Given the description of an element on the screen output the (x, y) to click on. 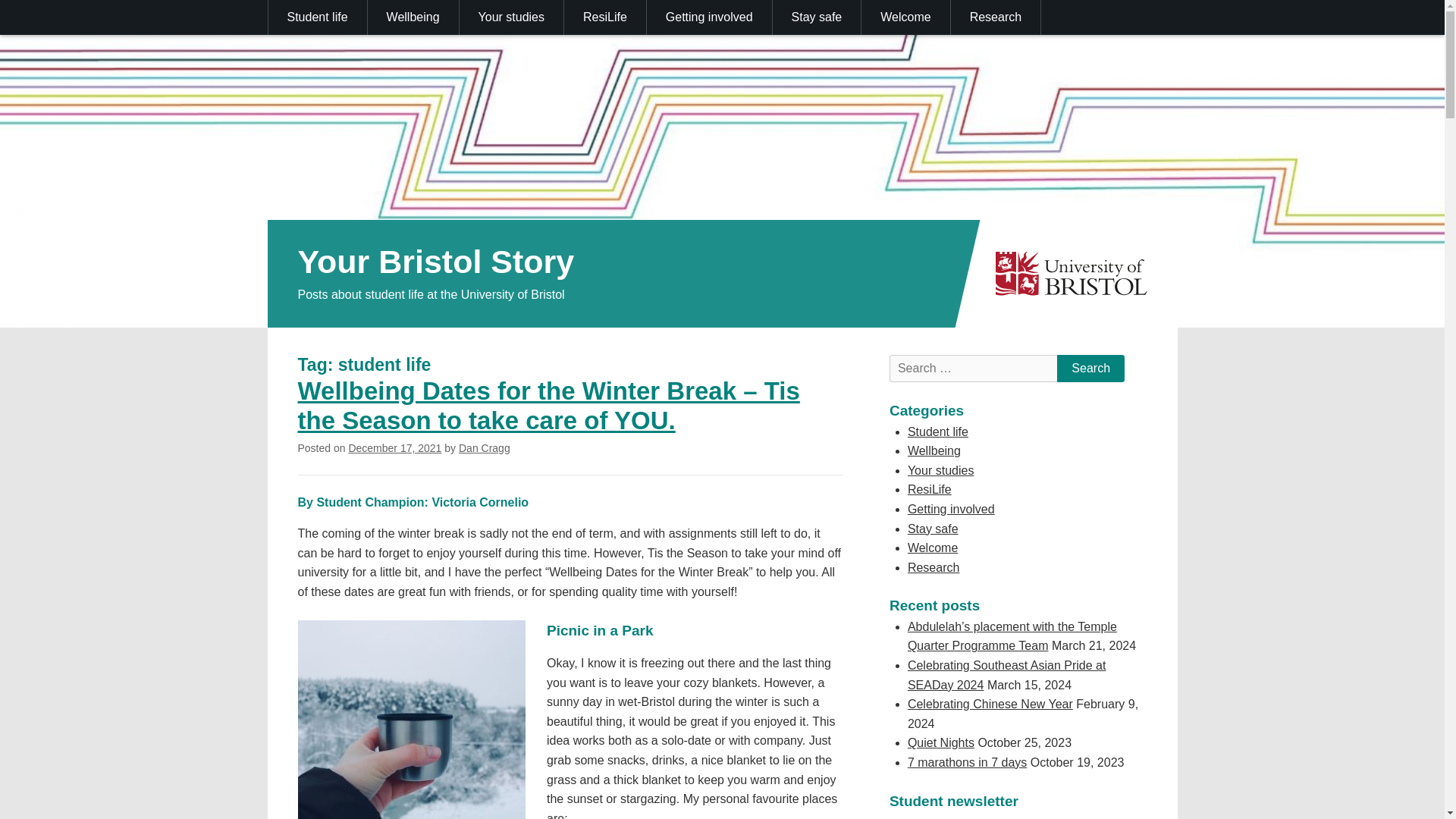
Stay safe (817, 17)
December 17, 2021 (394, 448)
Student life (317, 17)
Getting involved (709, 17)
ResiLife (605, 17)
Research (995, 17)
Search (1090, 368)
Your studies (512, 17)
Wellbeing (414, 17)
Your Bristol Story (435, 261)
